Given the description of an element on the screen output the (x, y) to click on. 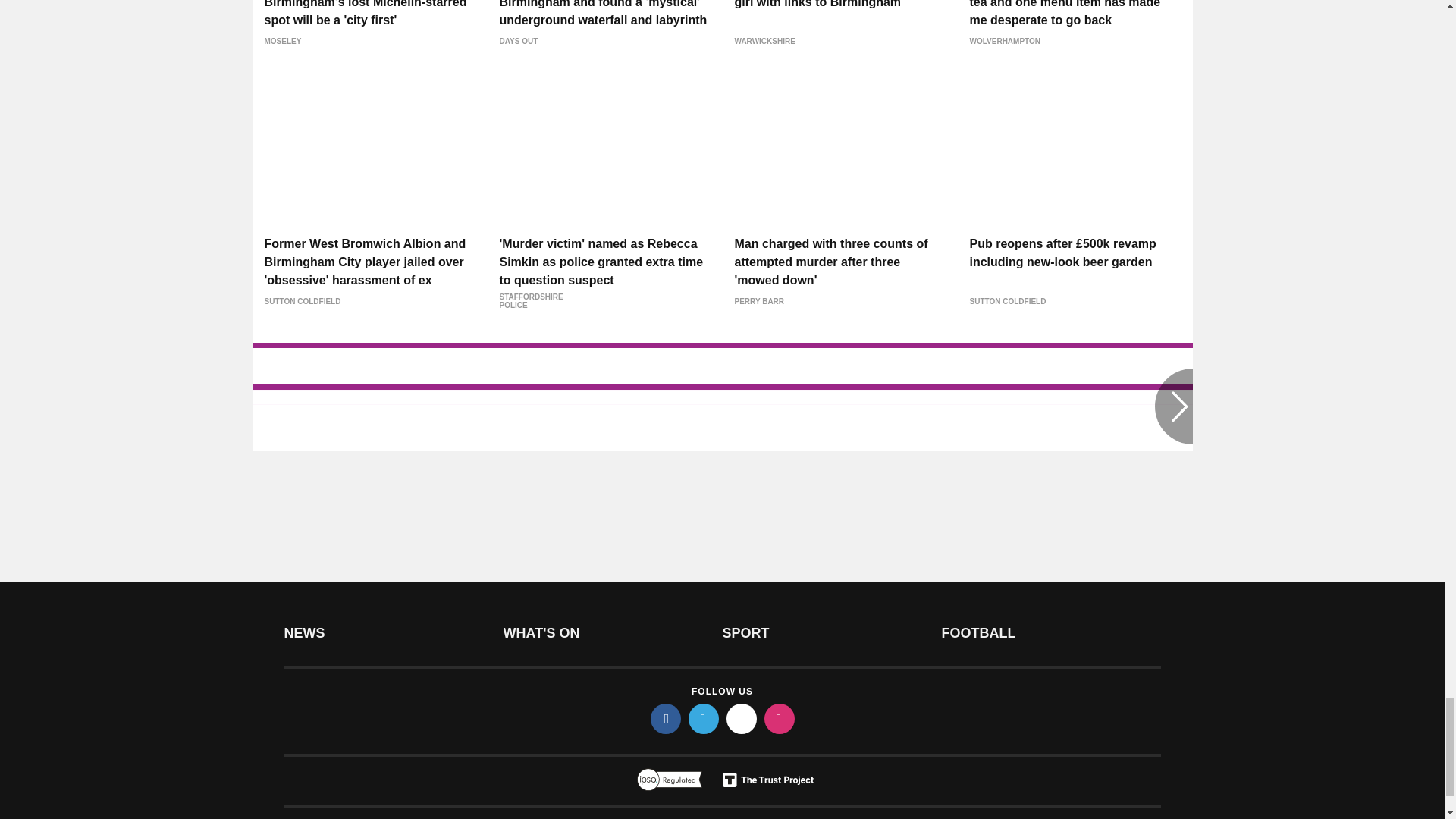
instagram (779, 718)
tiktok (741, 718)
facebook (665, 718)
twitter (703, 718)
